Given the description of an element on the screen output the (x, y) to click on. 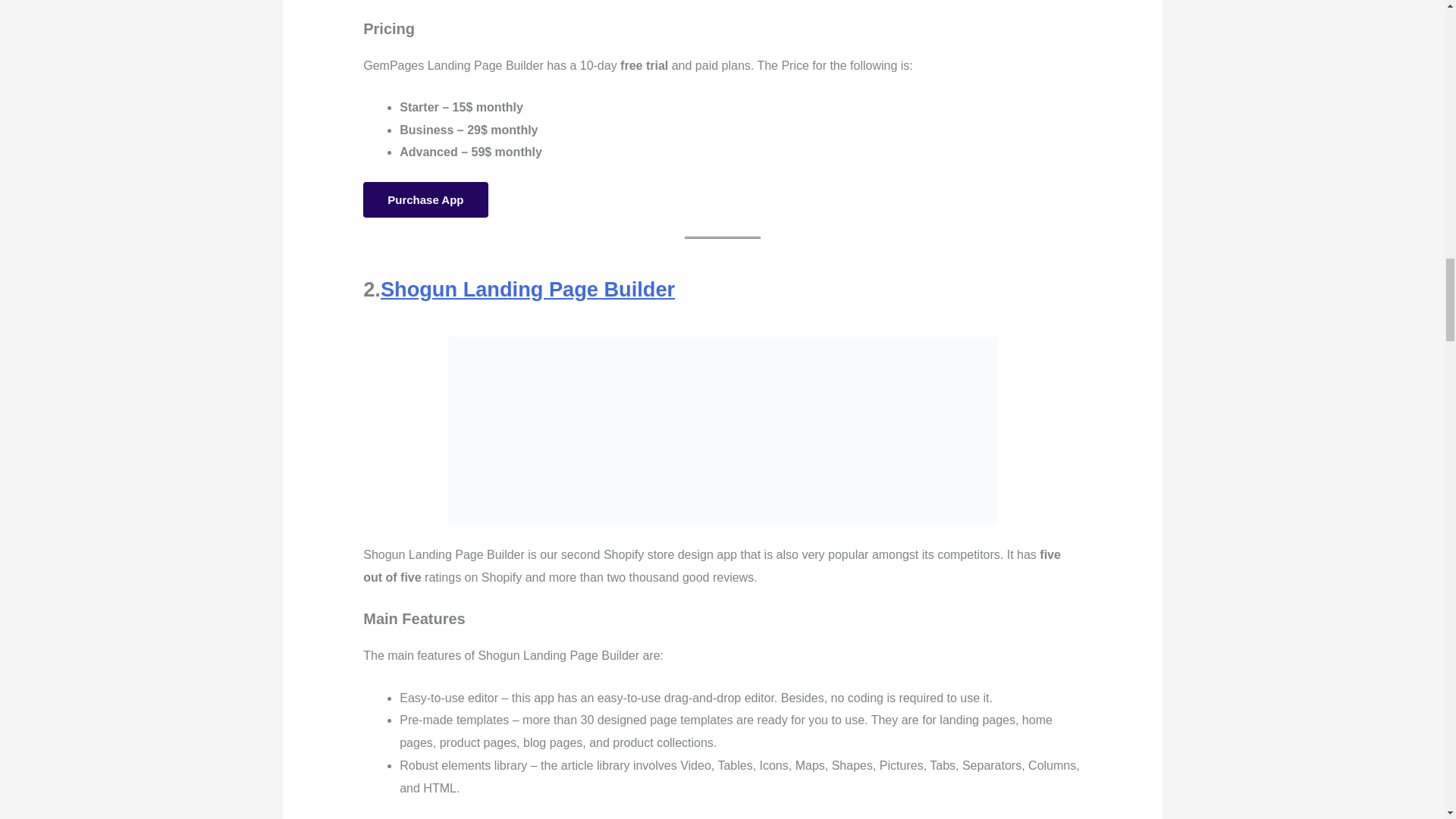
Shogun-landing-page-builder-shopify-app (720, 430)
